Given the description of an element on the screen output the (x, y) to click on. 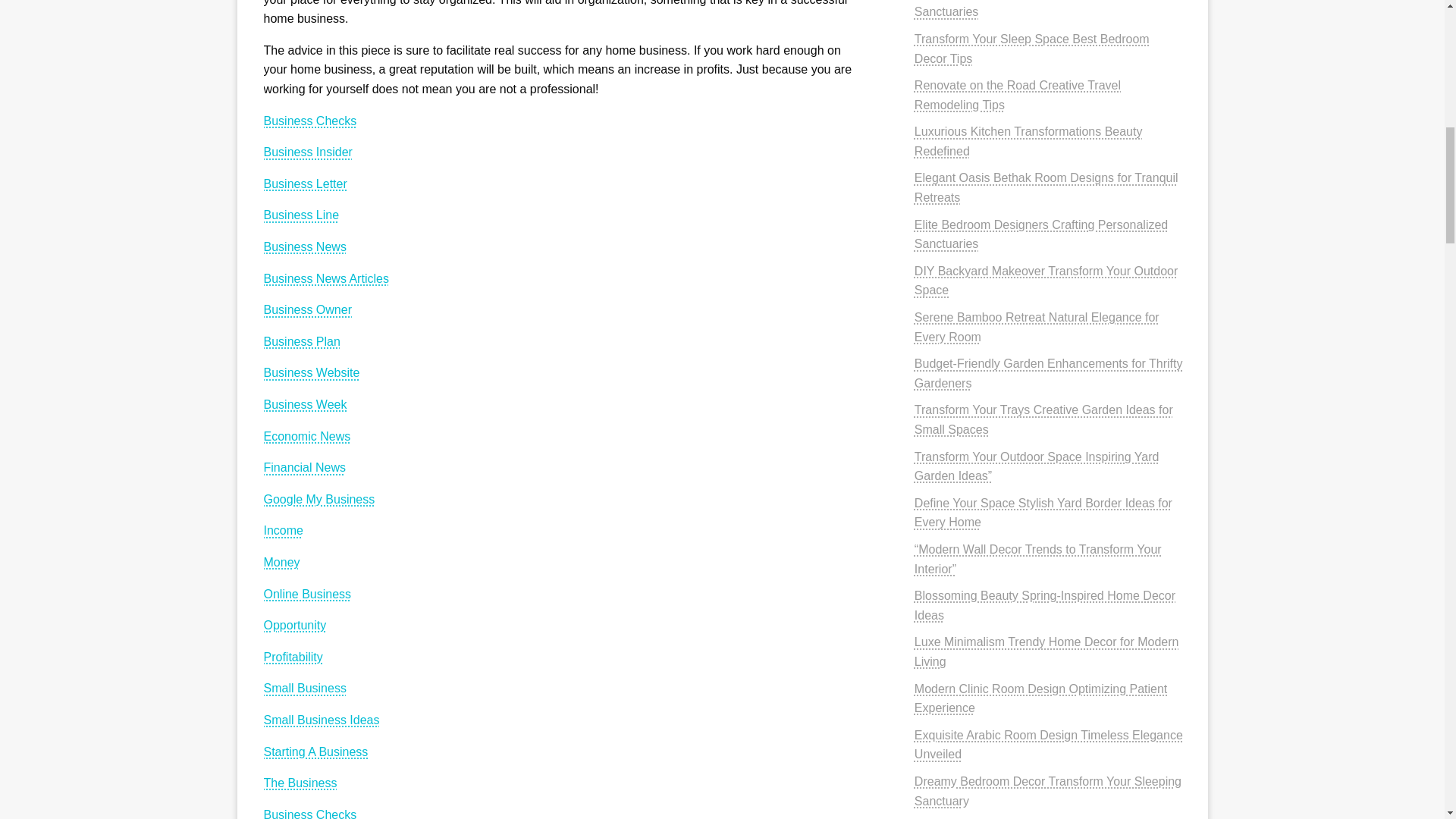
Business Letter (305, 183)
Business Insider (307, 151)
Business Checks (309, 120)
